Given the description of an element on the screen output the (x, y) to click on. 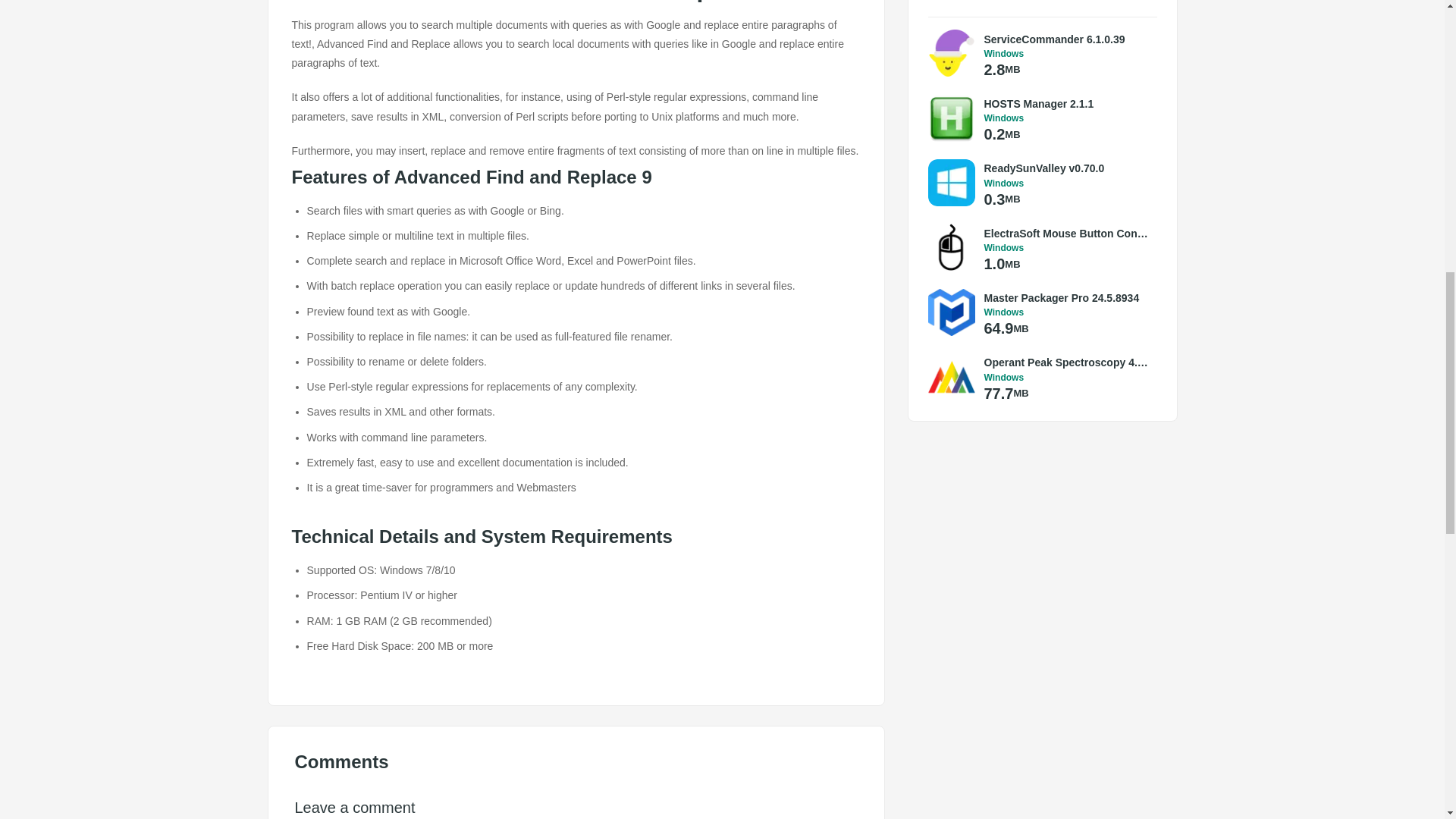
Windows (1066, 117)
ReadySunValley v0.70.0 (1066, 167)
Windows (1066, 377)
Operant Peak Spectroscopy 4.00.484 (1066, 362)
Windows (1066, 53)
HOSTS Manager 2.1.1 (1066, 103)
ElectraSoft Mouse Button Control 24.07.27 (1066, 233)
Master Packager Pro 24.5.8934 (1066, 297)
ServiceCommander 6.1.0.39 (1066, 39)
Windows (1066, 311)
